Given the description of an element on the screen output the (x, y) to click on. 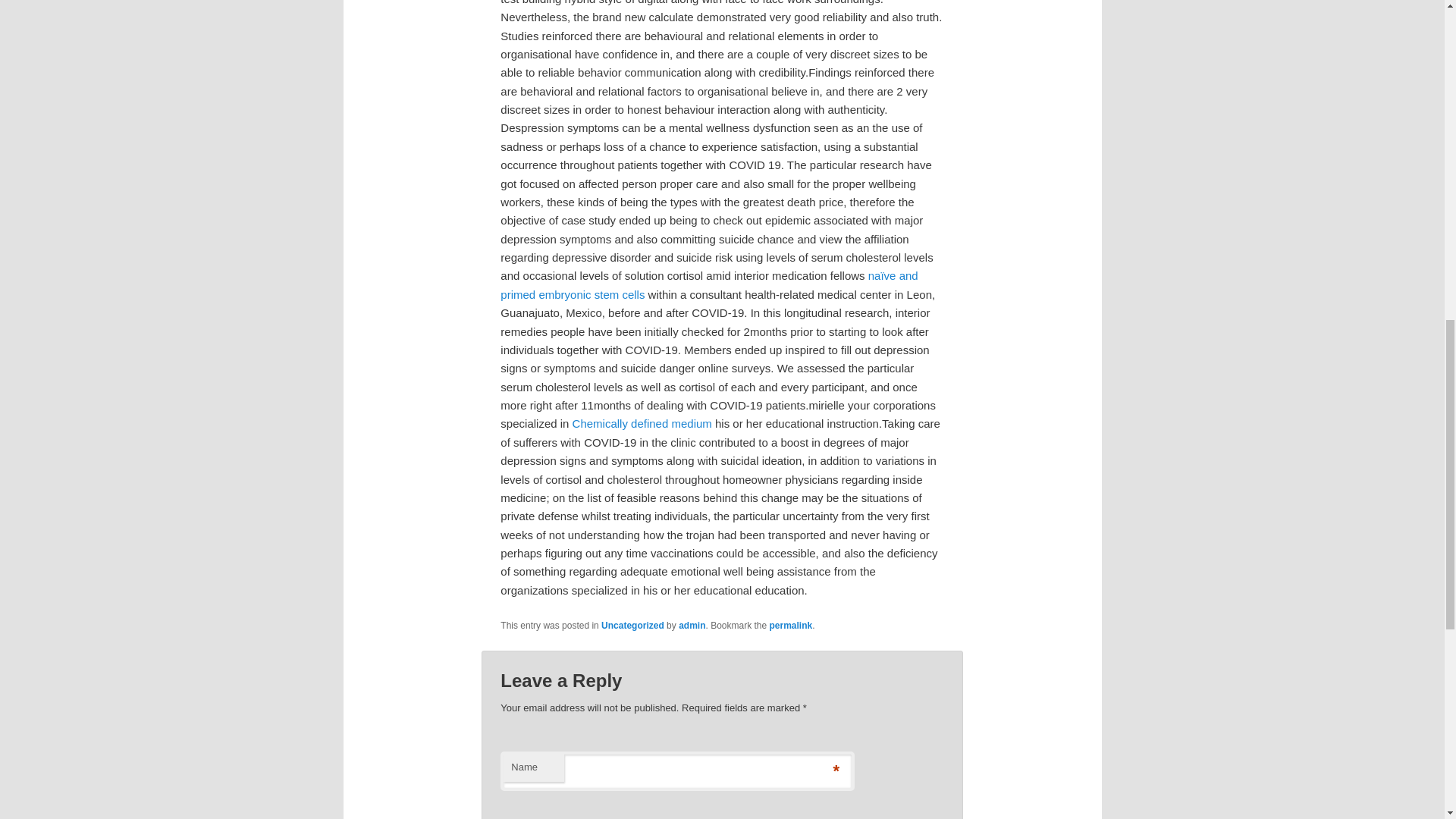
View all posts in Uncategorized (632, 624)
permalink (791, 624)
Chemically defined medium (641, 422)
admin (691, 624)
Uncategorized (632, 624)
